Given the description of an element on the screen output the (x, y) to click on. 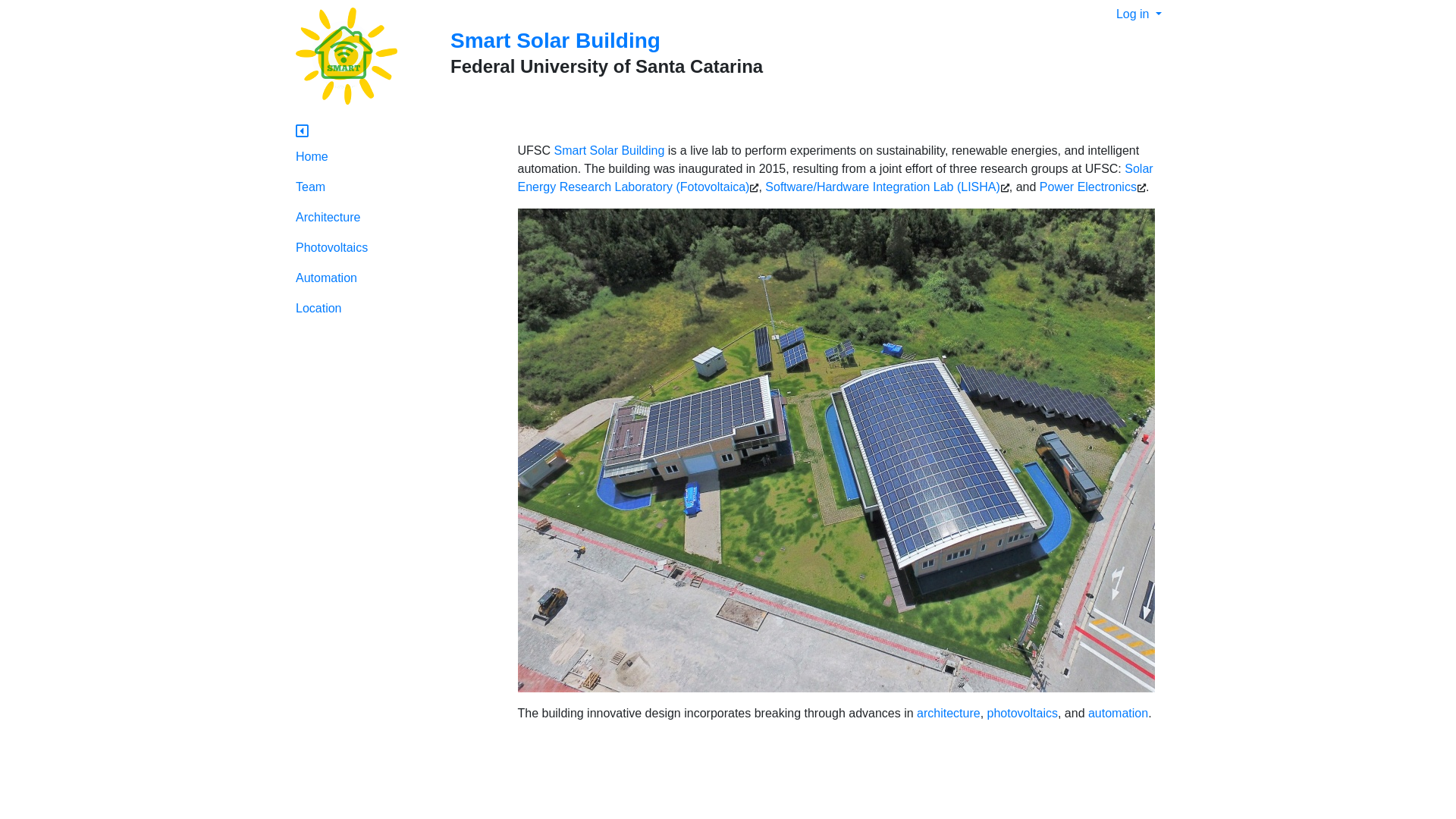
Architecture Element type: text (395, 217)
Solar Energy Research Laboratory (Fotovoltaica) Element type: text (834, 177)
Photovoltaics Element type: text (395, 247)
Software/Hardware Integration Lab (LISHA) Element type: text (882, 186)
Home Element type: text (395, 156)
Smart Solar Building Element type: text (555, 40)
Toggle left modules Element type: hover (301, 132)
Smart Solar Building Element type: text (608, 150)
Power Electronics Element type: text (1087, 186)
automation Element type: text (1118, 712)
Automation Element type: text (395, 278)
architecture Element type: text (948, 712)
photovoltaics Element type: text (1022, 712)
Log in Element type: text (1138, 14)
Location Element type: text (395, 308)
Team Element type: text (395, 187)
Solar Smart Building Element type: hover (340, 56)
